Given the description of an element on the screen output the (x, y) to click on. 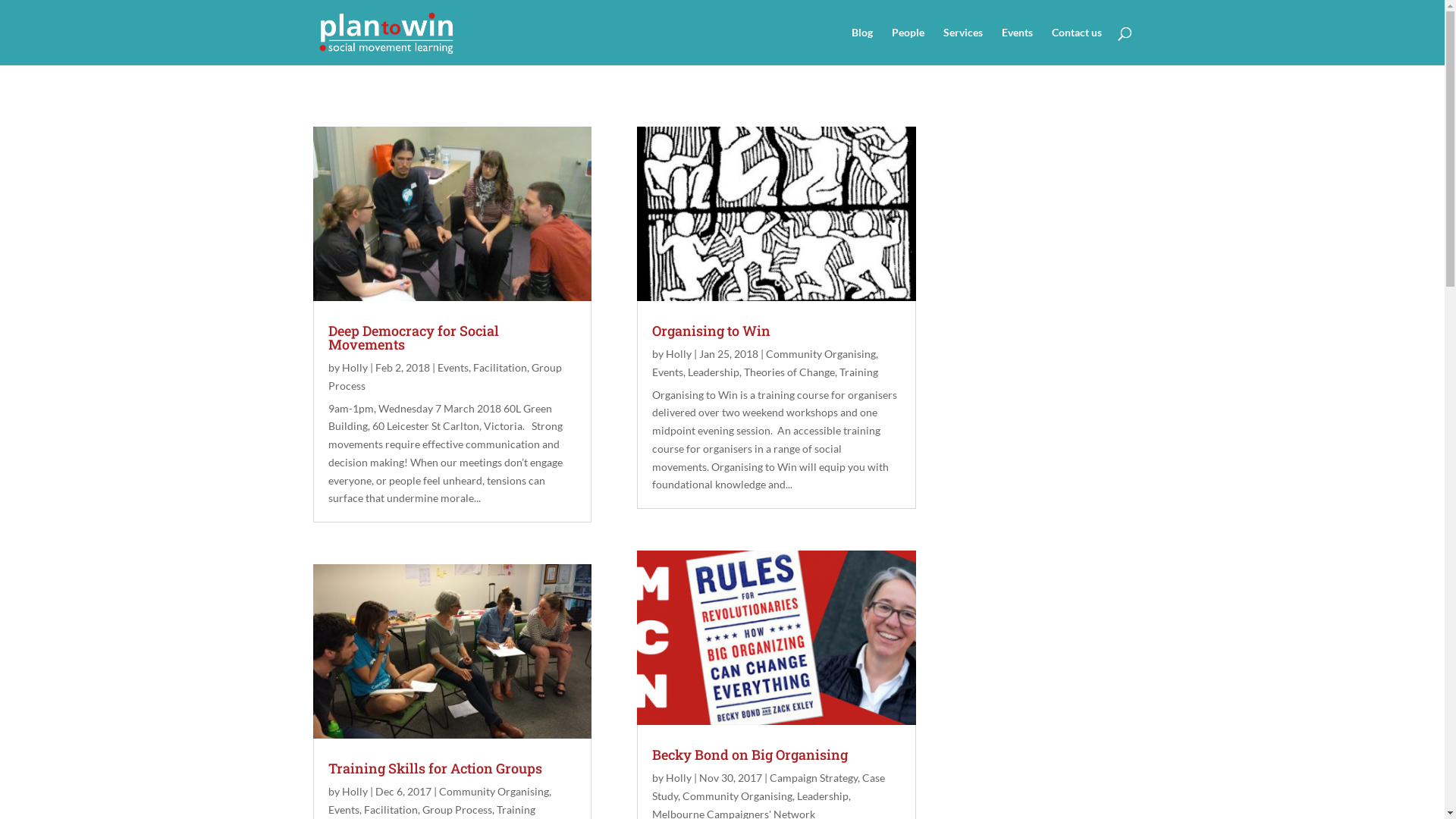
Community Organising Element type: text (820, 353)
Becky Bond on Big Organising Element type: text (749, 754)
Facilitation Element type: text (500, 366)
Contact us Element type: text (1076, 46)
Holly Element type: text (678, 353)
Holly Element type: text (354, 790)
Blog Element type: text (861, 46)
Training Element type: text (858, 371)
Community Organising Element type: text (493, 790)
Training Skills for Action Groups Element type: text (434, 768)
Community Organising Element type: text (737, 795)
Events Element type: text (451, 366)
Group Process Element type: text (444, 376)
Theories of Change Element type: text (788, 371)
Leadership Element type: text (822, 795)
Services Element type: text (962, 46)
Holly Element type: text (354, 366)
Deep Democracy for Social Movements Element type: text (412, 337)
Events Element type: text (342, 809)
Leadership Element type: text (713, 371)
Case Study Element type: text (768, 786)
Organising to Win Element type: text (711, 330)
Facilitation Element type: text (390, 809)
Holly Element type: text (678, 777)
Campaign Strategy Element type: text (813, 777)
Group Process Element type: text (456, 809)
Training Element type: text (514, 809)
Events Element type: text (667, 371)
People Element type: text (907, 46)
Events Element type: text (1016, 46)
